Given the description of an element on the screen output the (x, y) to click on. 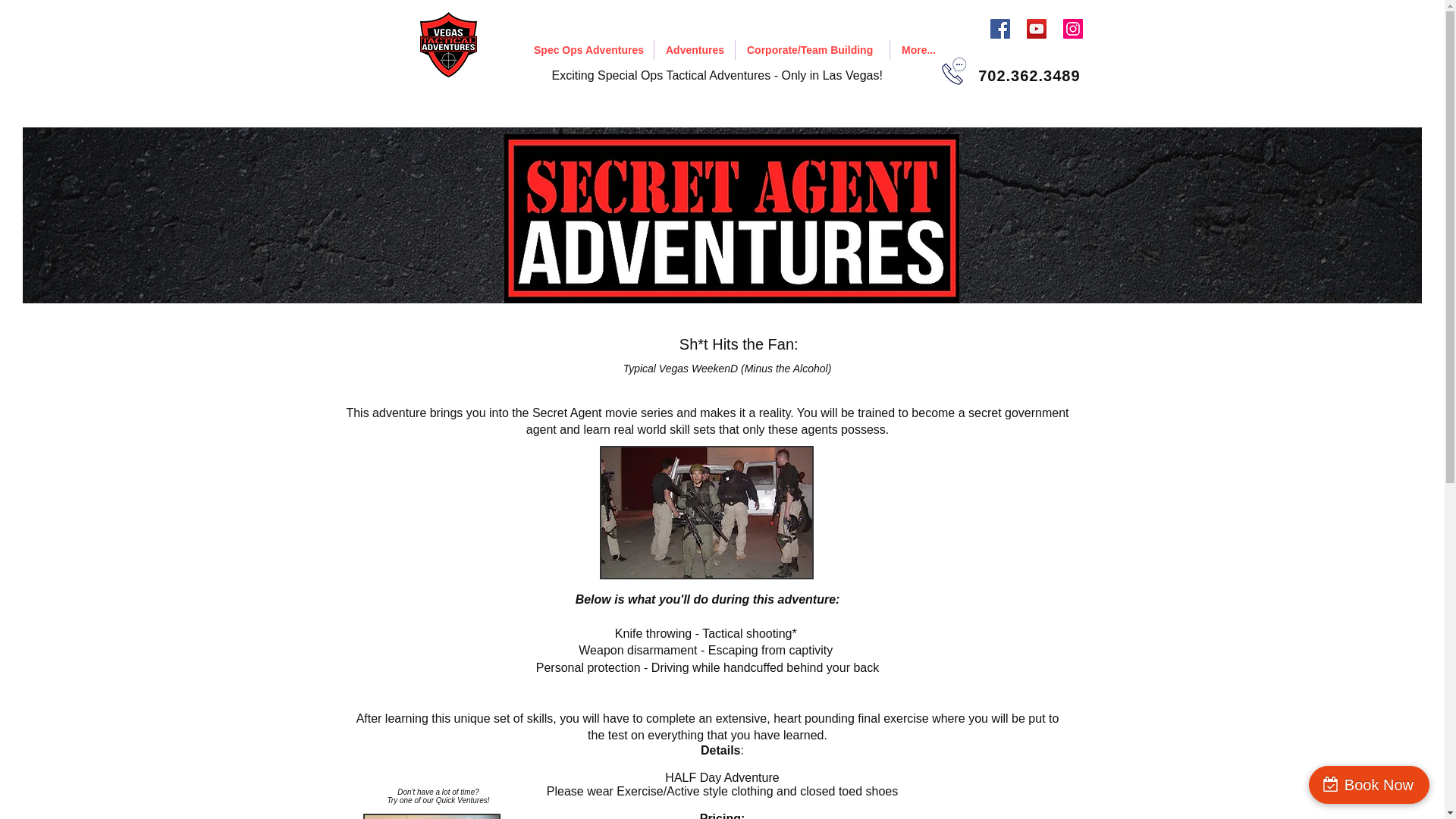
Adventures (694, 49)
Book Now (1368, 784)
Spec Ops Adventures (587, 49)
